Given the description of an element on the screen output the (x, y) to click on. 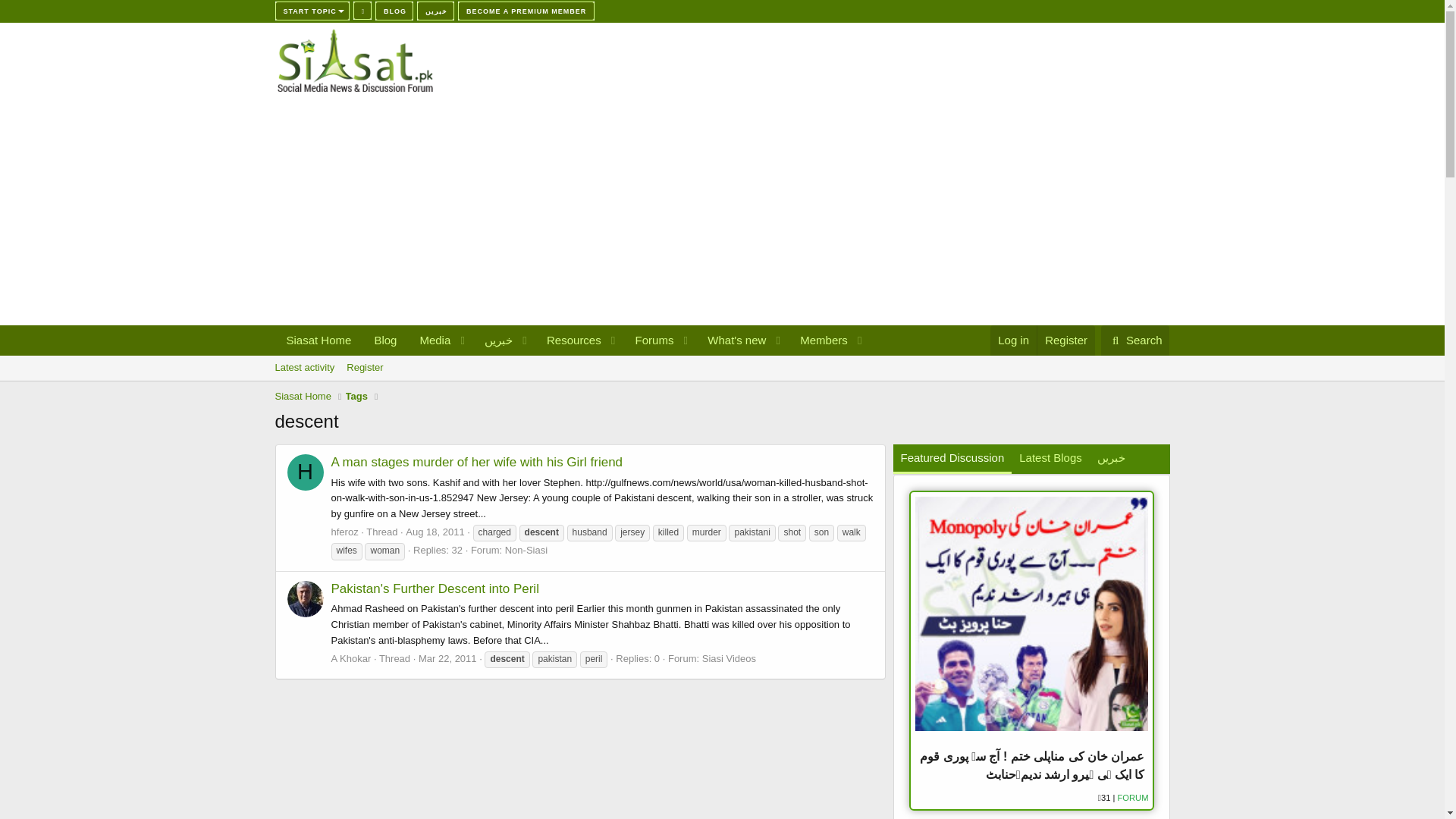
BLOG (394, 10)
New payment methods available (526, 10)
START TOPIC (312, 10)
Mar 22, 2011 at 3:30 AM (448, 658)
BECOME A PREMIUM MEMBER (526, 10)
Search (1135, 340)
Aug 18, 2011 at 1:29 AM (720, 384)
